Given the description of an element on the screen output the (x, y) to click on. 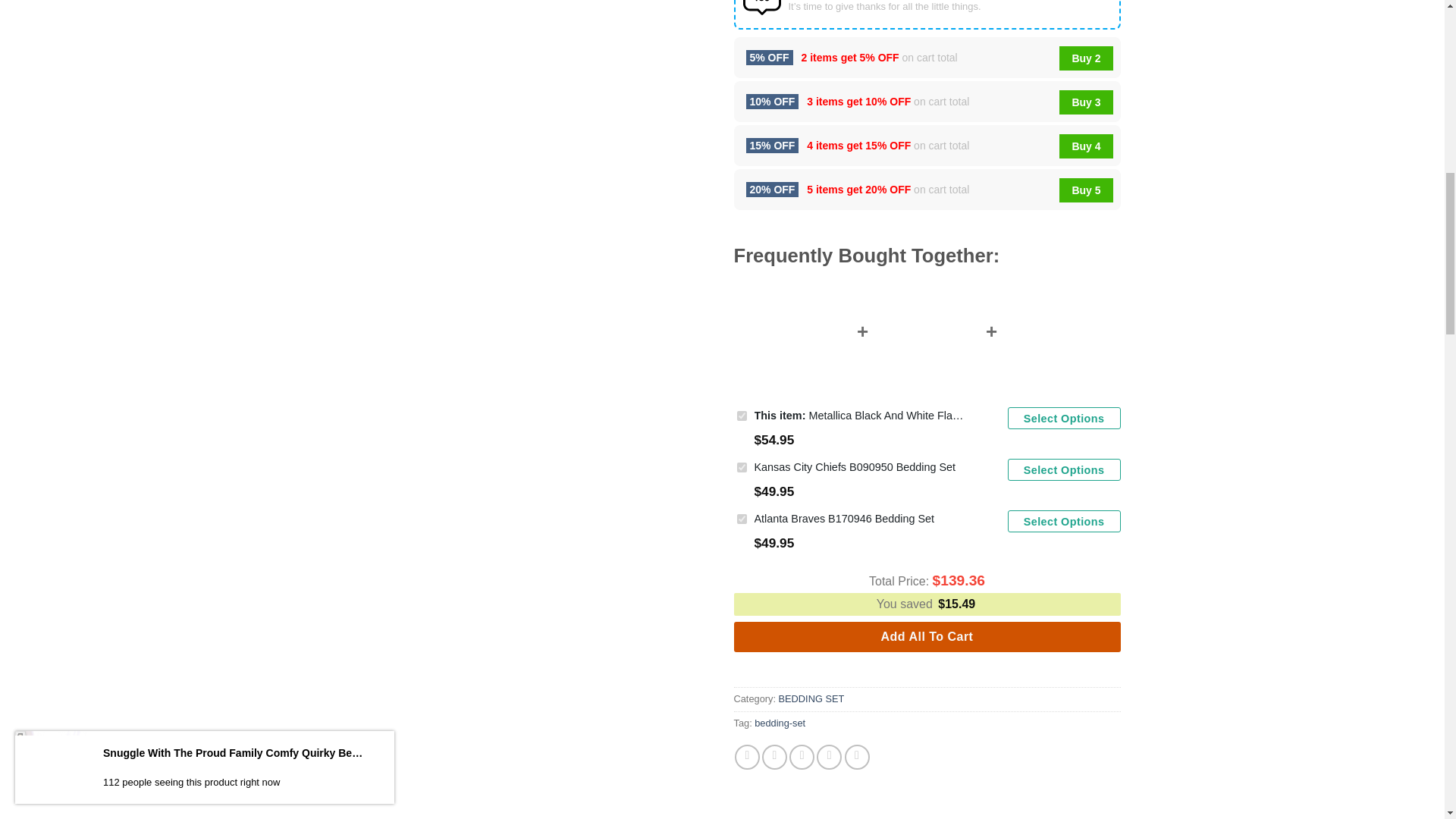
7709 (741, 519)
9858 (741, 415)
7718 (741, 467)
